Given the description of an element on the screen output the (x, y) to click on. 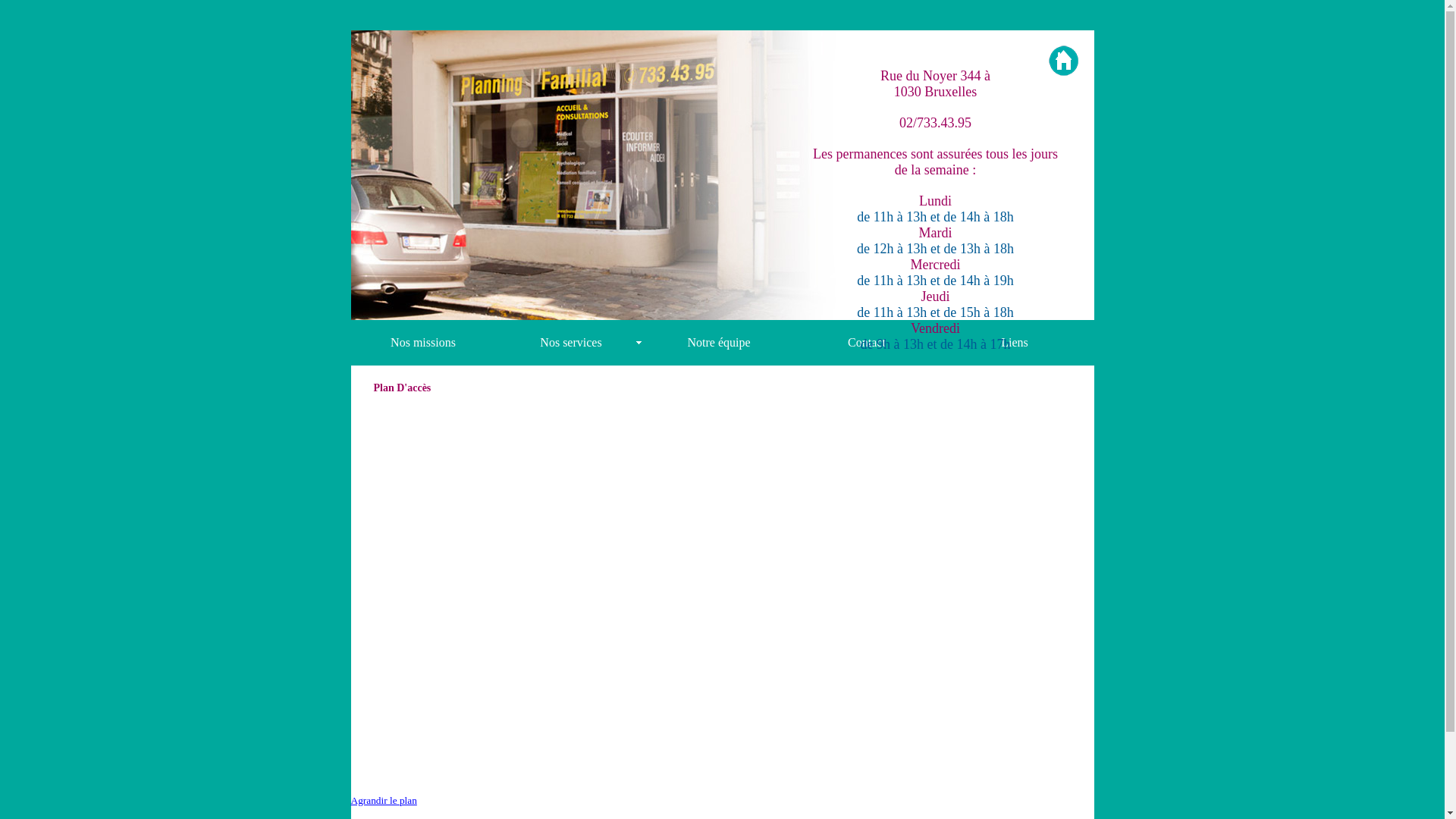
Liens Element type: text (1013, 342)
Contact Element type: text (866, 342)
Nos services Element type: text (570, 342)
Nos missions Element type: text (422, 342)
Agrandir le plan Element type: text (383, 800)
